Given the description of an element on the screen output the (x, y) to click on. 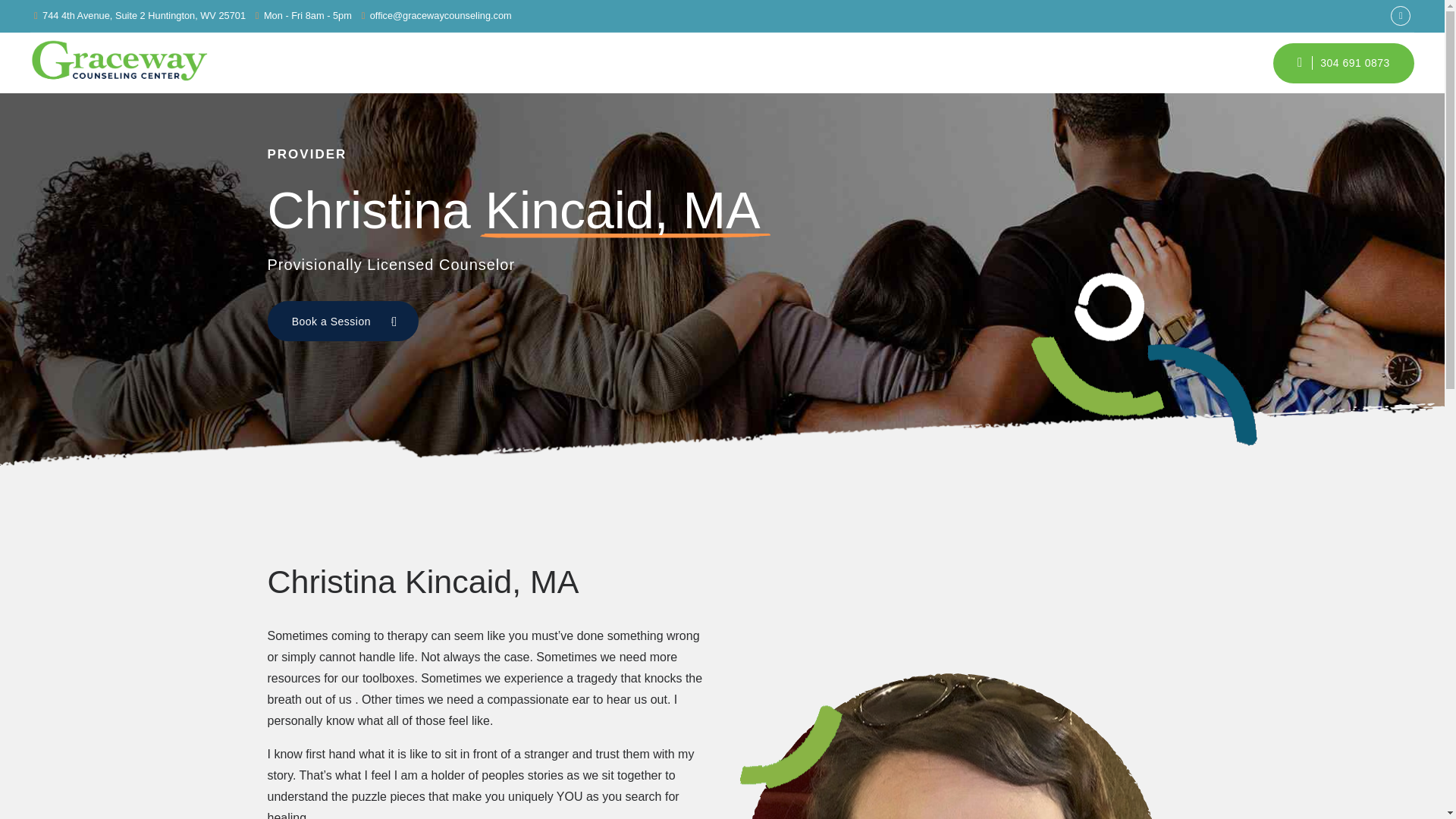
Client Portal (1190, 62)
Home (767, 62)
FAQs (1111, 62)
Book a Session (341, 321)
About (834, 62)
Contact (1040, 62)
304 691 0873 (1342, 62)
Book a Session (341, 321)
Services (906, 62)
Blog (974, 62)
